Given the description of an element on the screen output the (x, y) to click on. 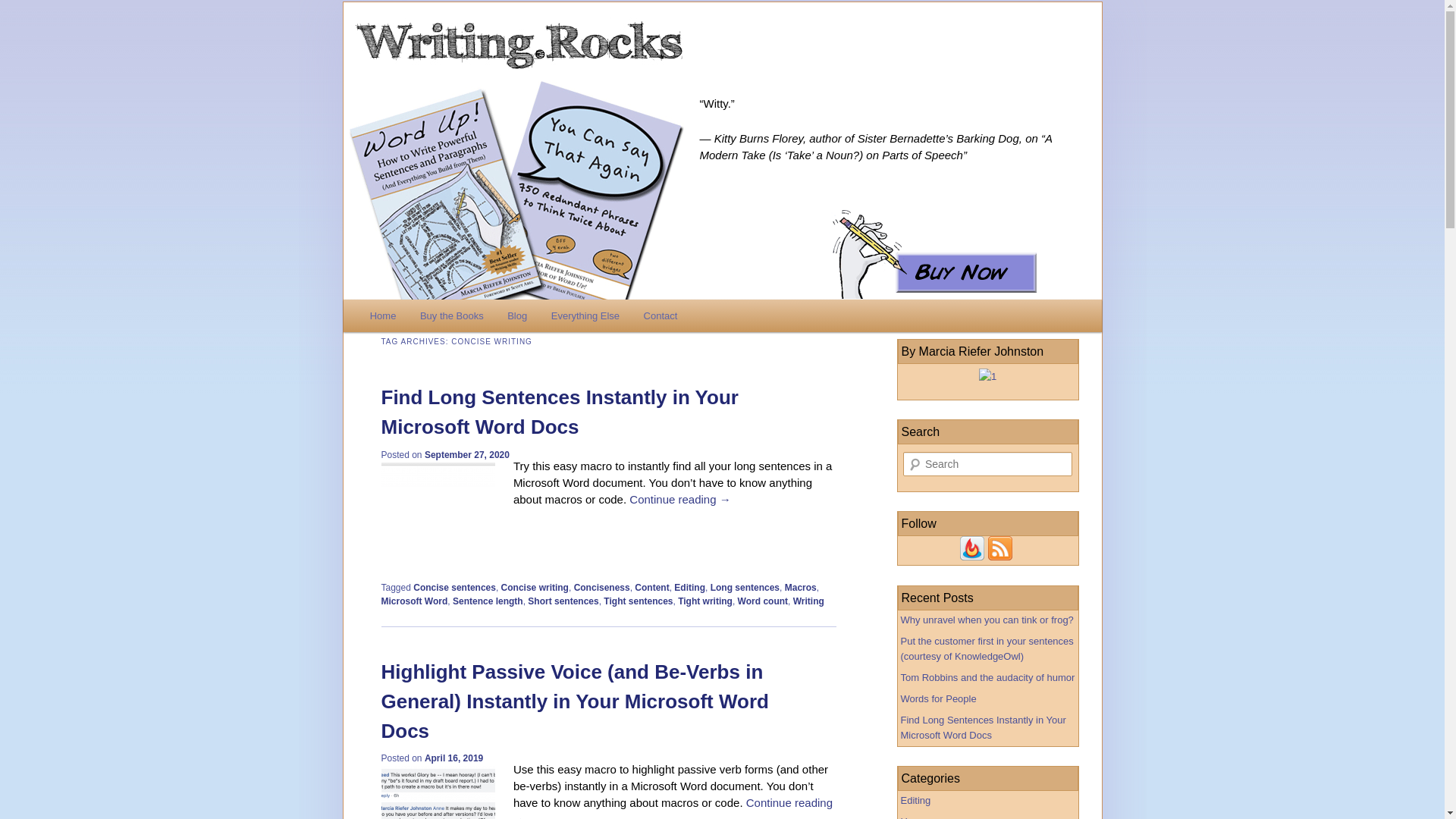
12:19 am (467, 454)
11:07 pm (454, 757)
Writing.Rocks (729, 44)
